Given the description of an element on the screen output the (x, y) to click on. 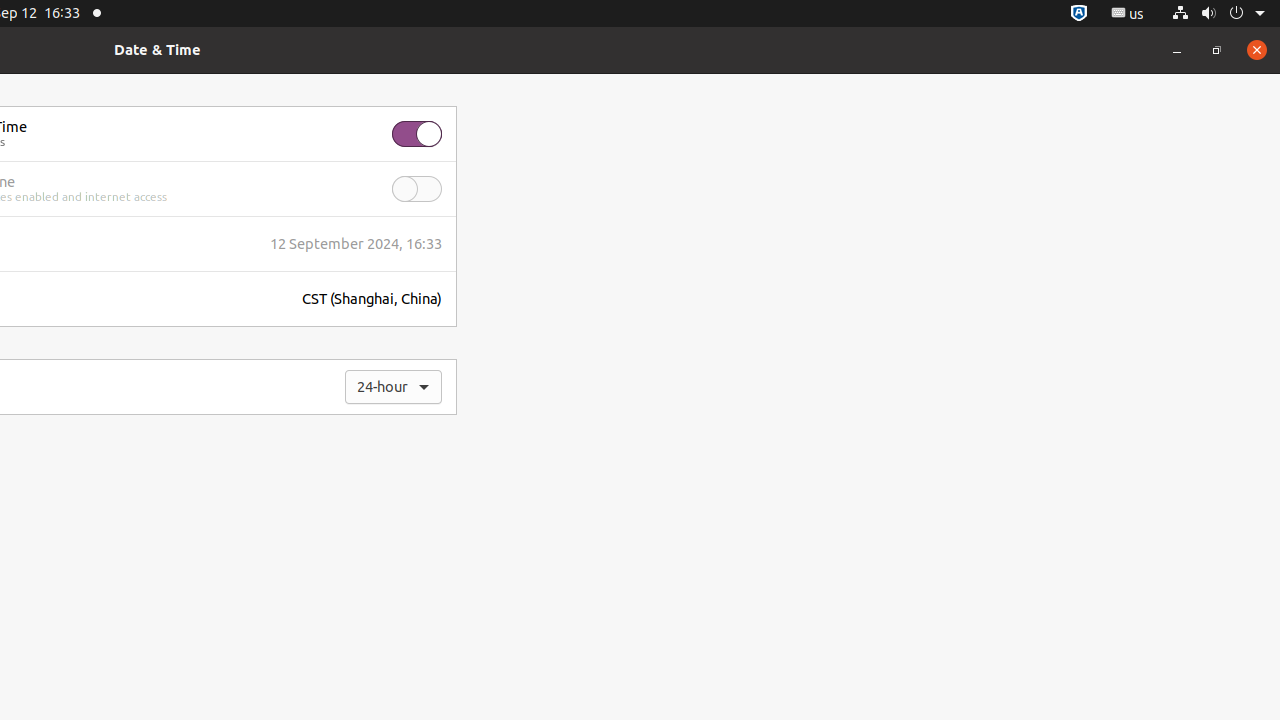
Restore Element type: push-button (1217, 50)
Close Element type: push-button (1257, 50)
12 September 2024, 16:33 Element type: label (356, 243)
Date & Time Element type: label (157, 49)
